Given the description of an element on the screen output the (x, y) to click on. 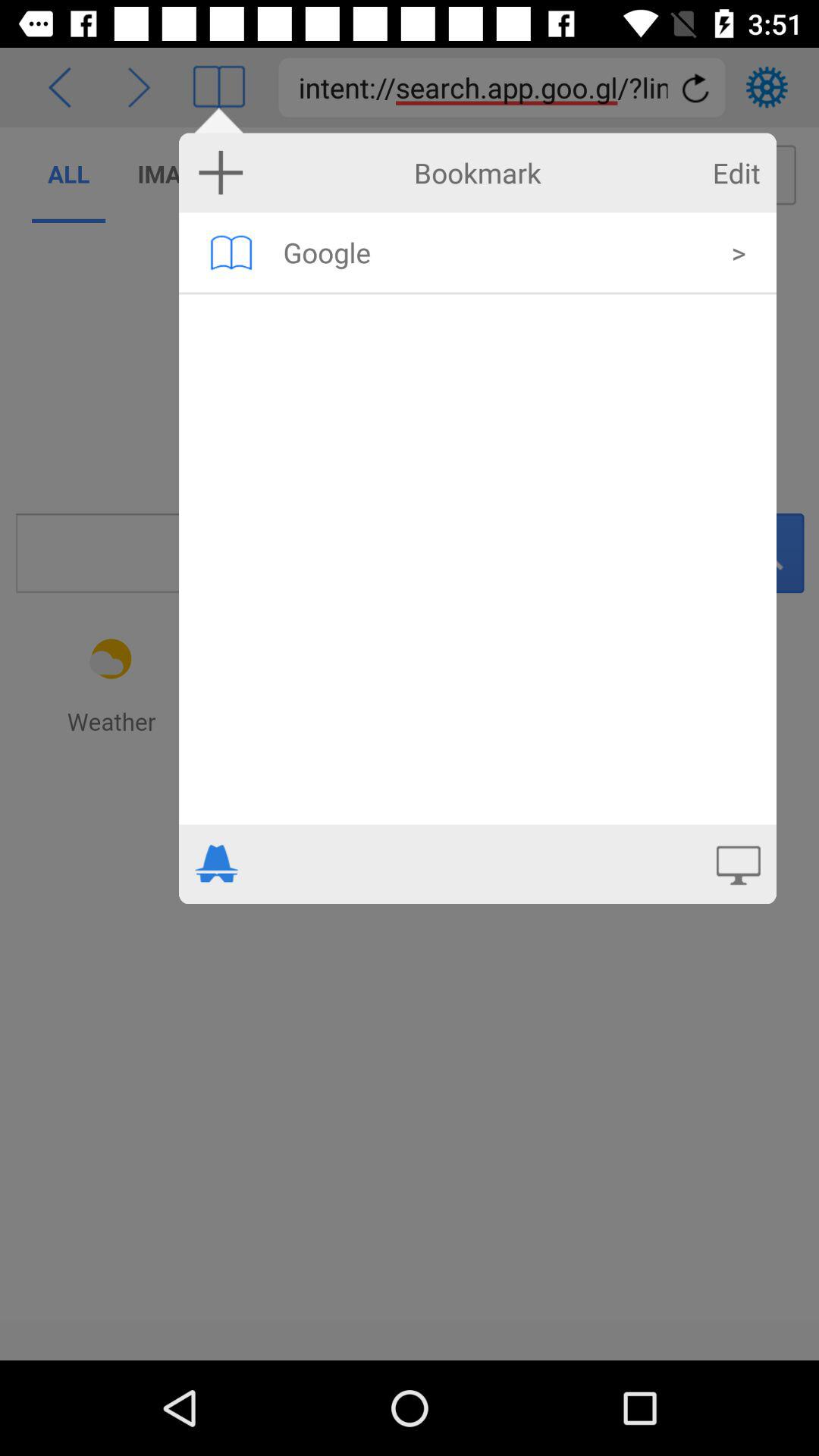
press item next to the bookmark (220, 172)
